Given the description of an element on the screen output the (x, y) to click on. 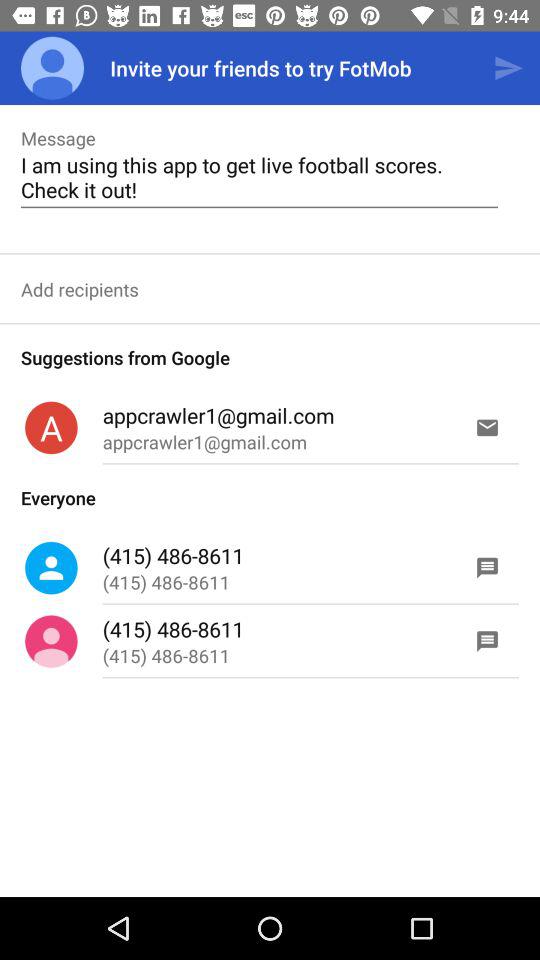
choose the item next to invite your friends item (52, 68)
